Given the description of an element on the screen output the (x, y) to click on. 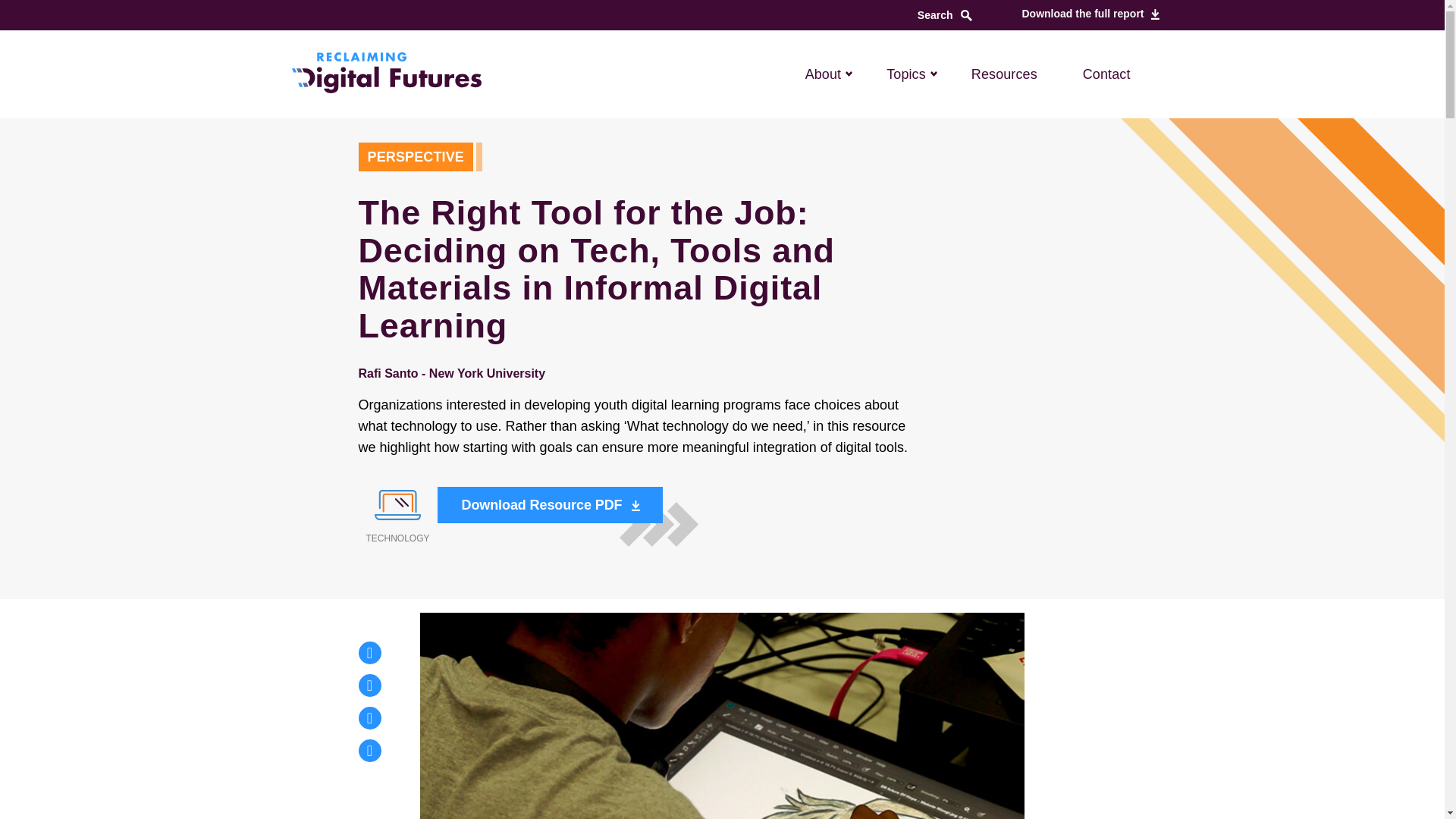
Download Resource PDF (550, 504)
Download the full report (1086, 13)
Topics (906, 73)
Contact (1106, 73)
About (822, 73)
Resources (1004, 73)
